Given the description of an element on the screen output the (x, y) to click on. 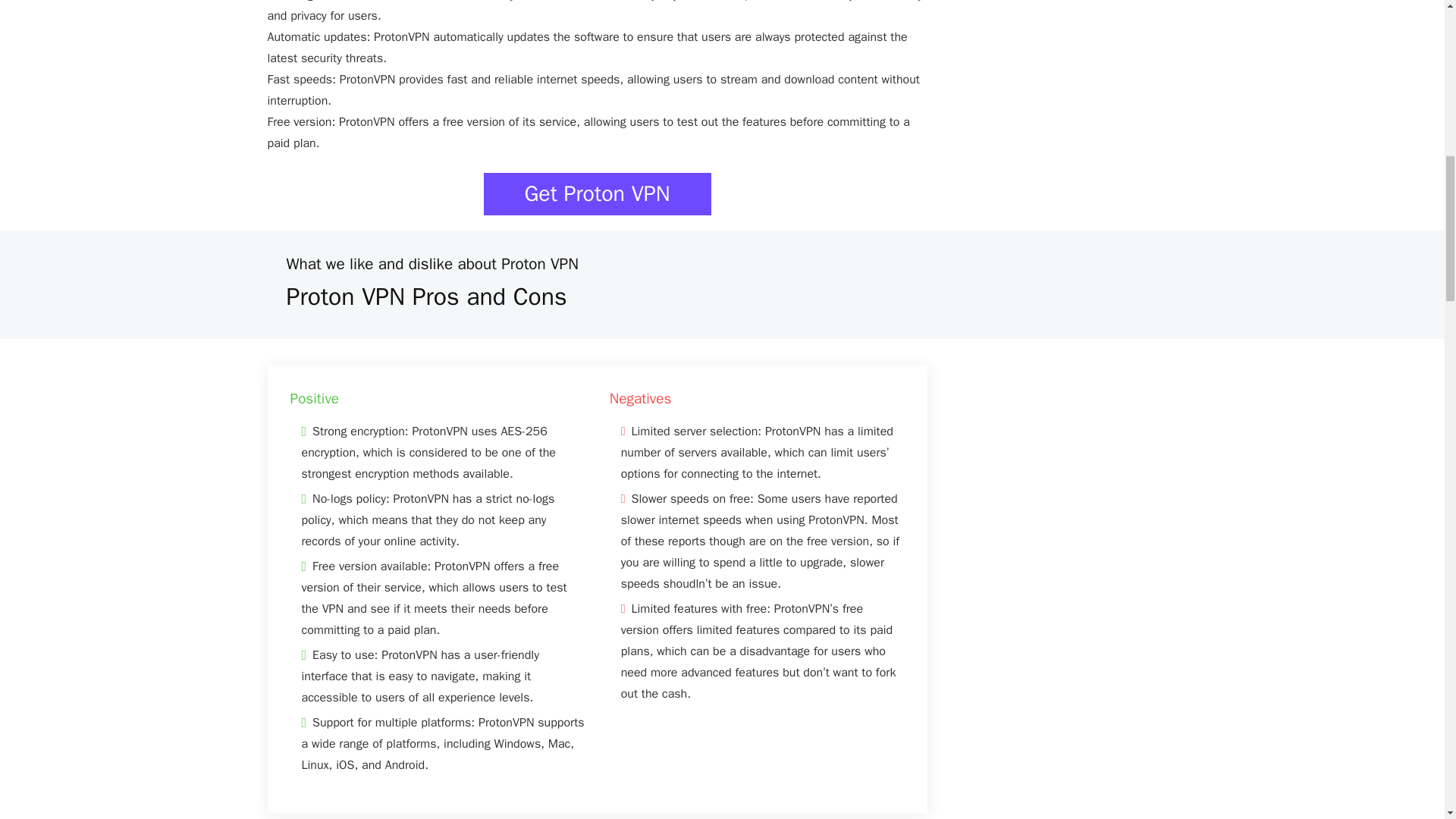
Get Proton VPN (597, 193)
